Given the description of an element on the screen output the (x, y) to click on. 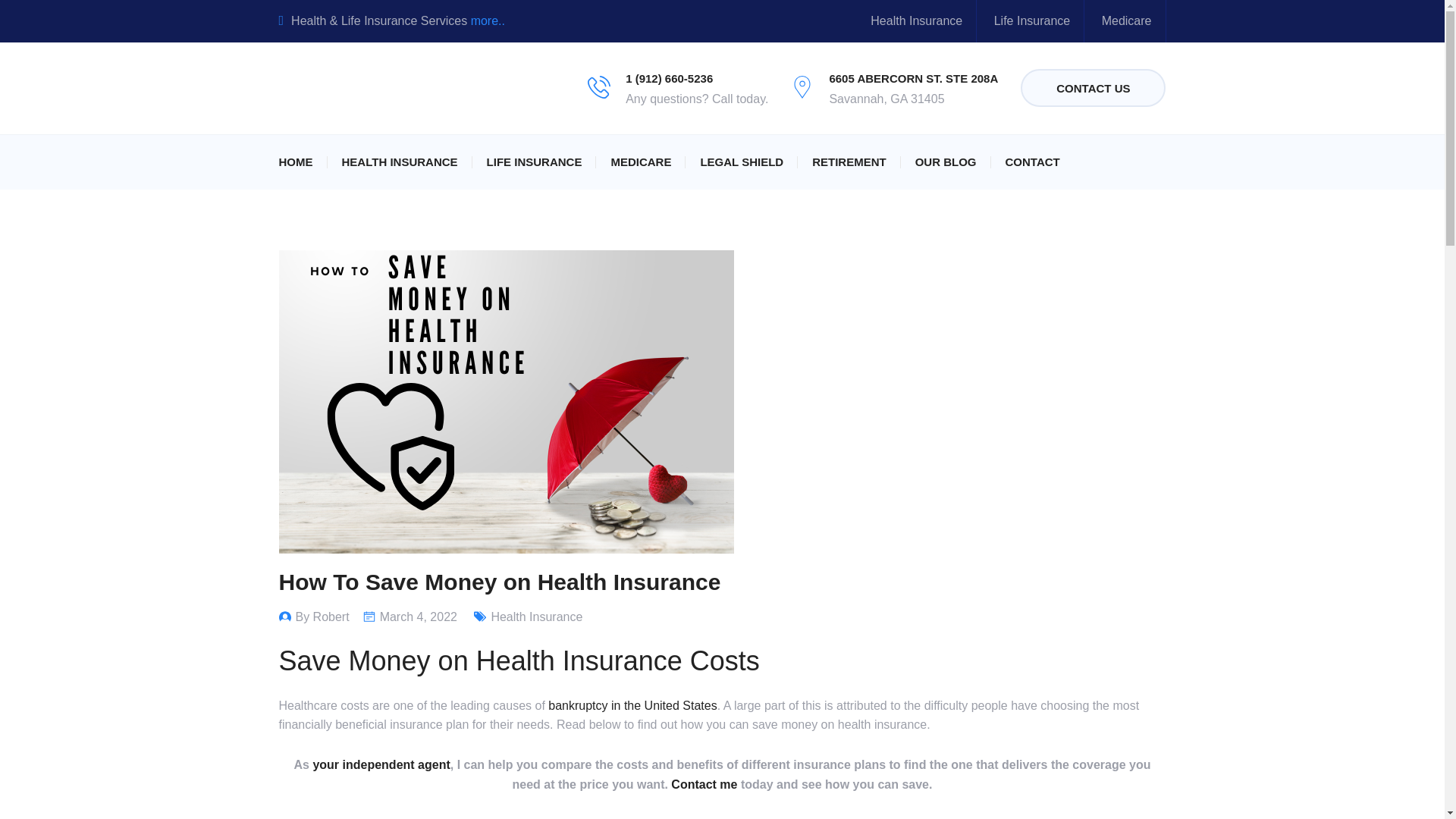
Contact me (703, 784)
MEDICARE (640, 161)
Health Insurance (916, 20)
HEALTH INSURANCE (398, 161)
CONTACT US (1093, 87)
LIFE INSURANCE (534, 161)
more.. (487, 20)
HOME (296, 161)
bankruptcy in the United States (632, 705)
March 4, 2022 (418, 616)
Medicare (1126, 20)
LEGAL SHIELD (741, 161)
RETIREMENT (849, 161)
CONTACT (1032, 161)
